Given the description of an element on the screen output the (x, y) to click on. 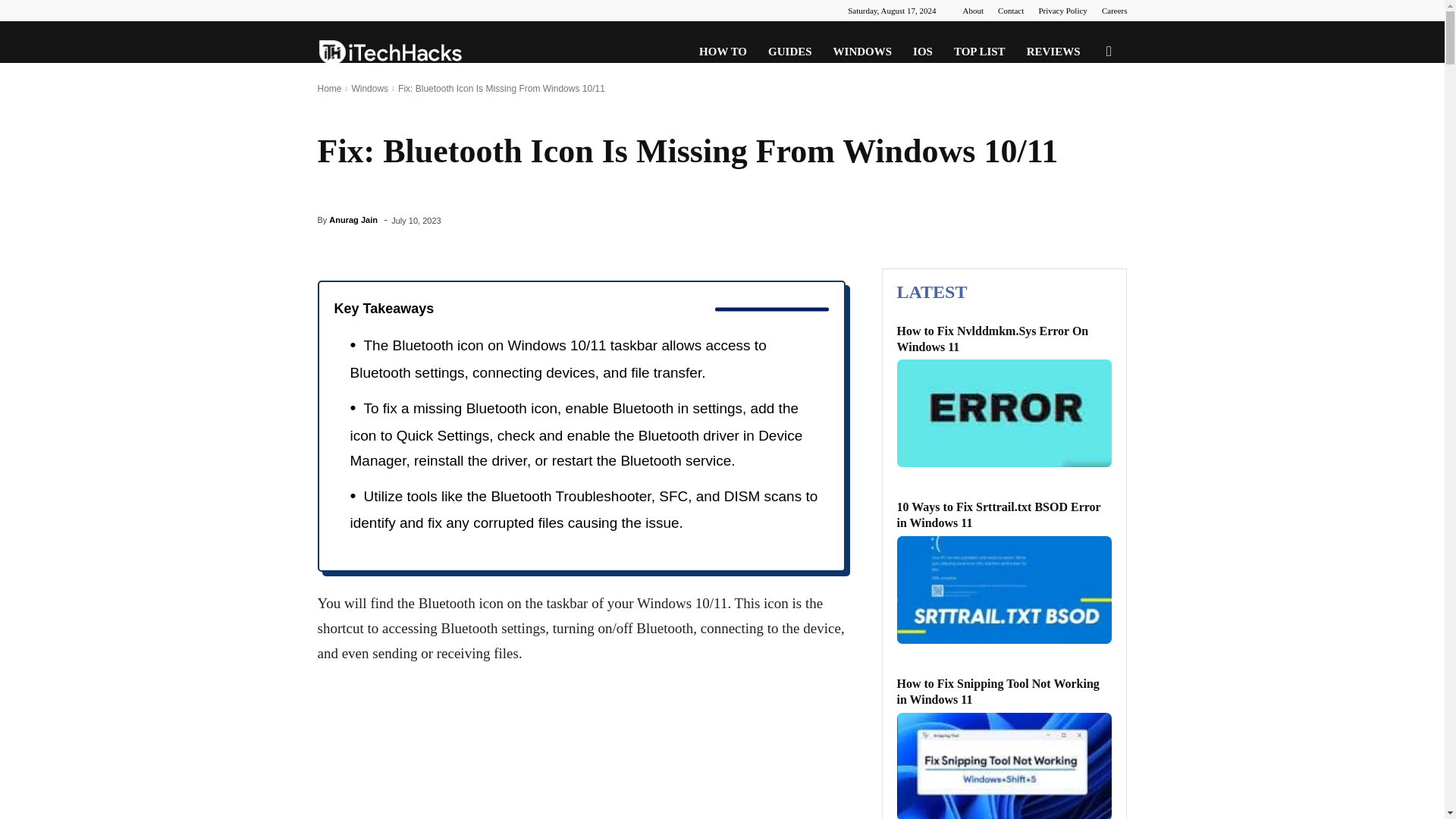
Search (1085, 124)
Windows (369, 88)
REVIEWS (1053, 51)
Home (328, 88)
About (973, 10)
View all posts in Windows (369, 88)
Contact (1010, 10)
Privacy Policy (1062, 10)
Careers (1114, 10)
Youtube (403, 10)
